Given the description of an element on the screen output the (x, y) to click on. 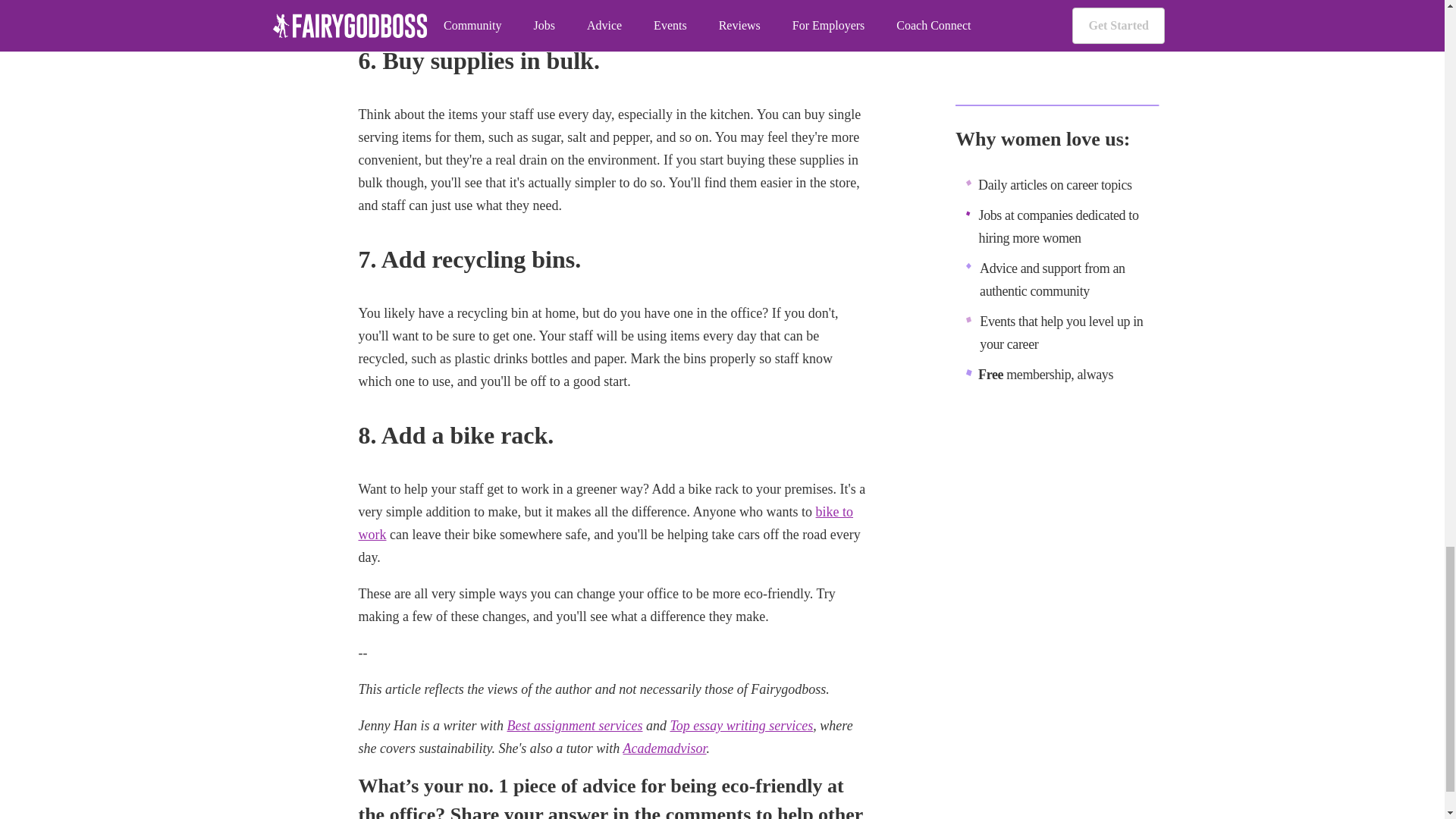
Academadvisor (664, 748)
Best assignment services (574, 725)
bike to work (605, 523)
Top essay writing services (740, 725)
